Given the description of an element on the screen output the (x, y) to click on. 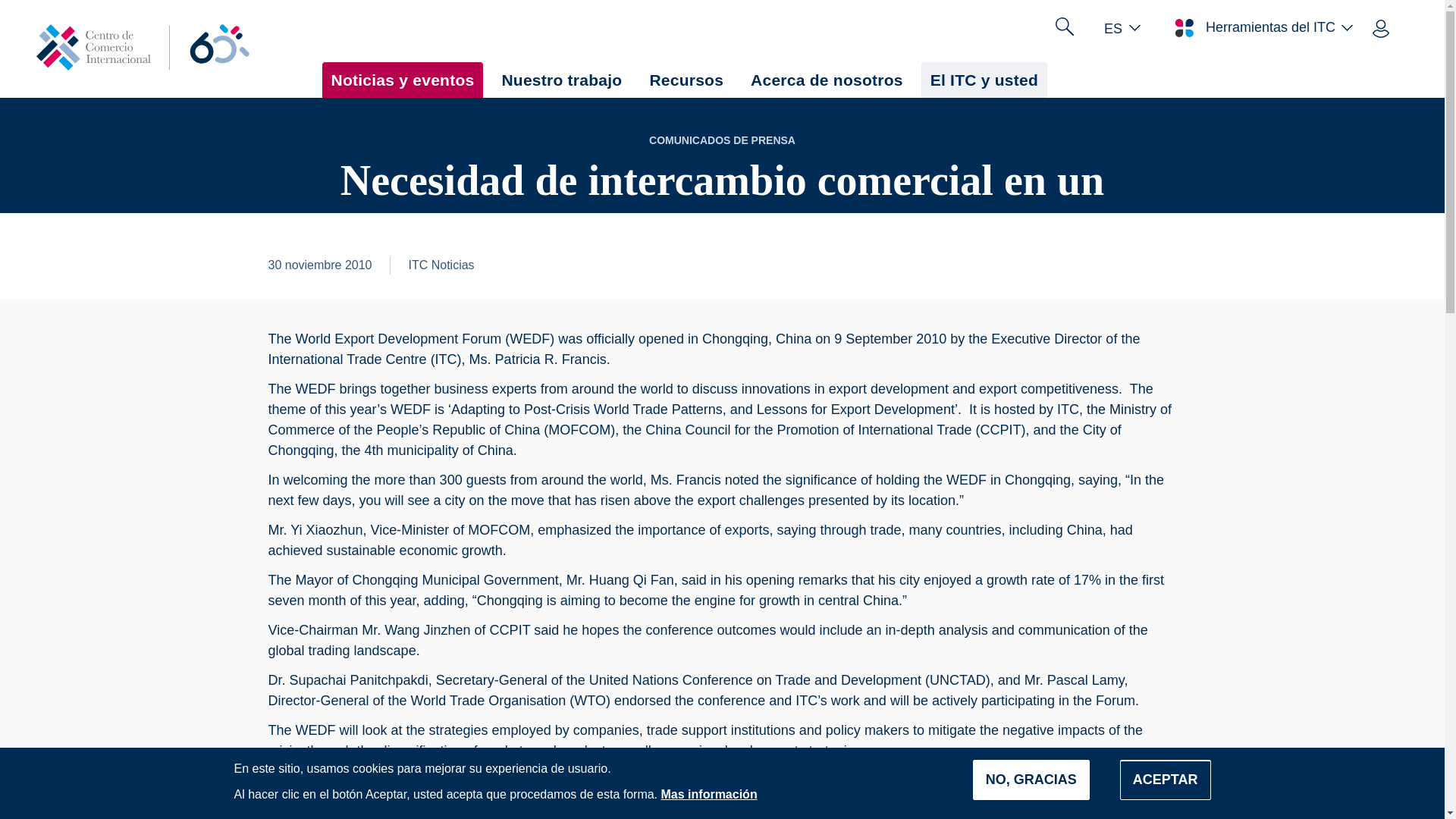
NO, GRACIAS (1030, 780)
ACEPTAR (1165, 780)
